Given the description of an element on the screen output the (x, y) to click on. 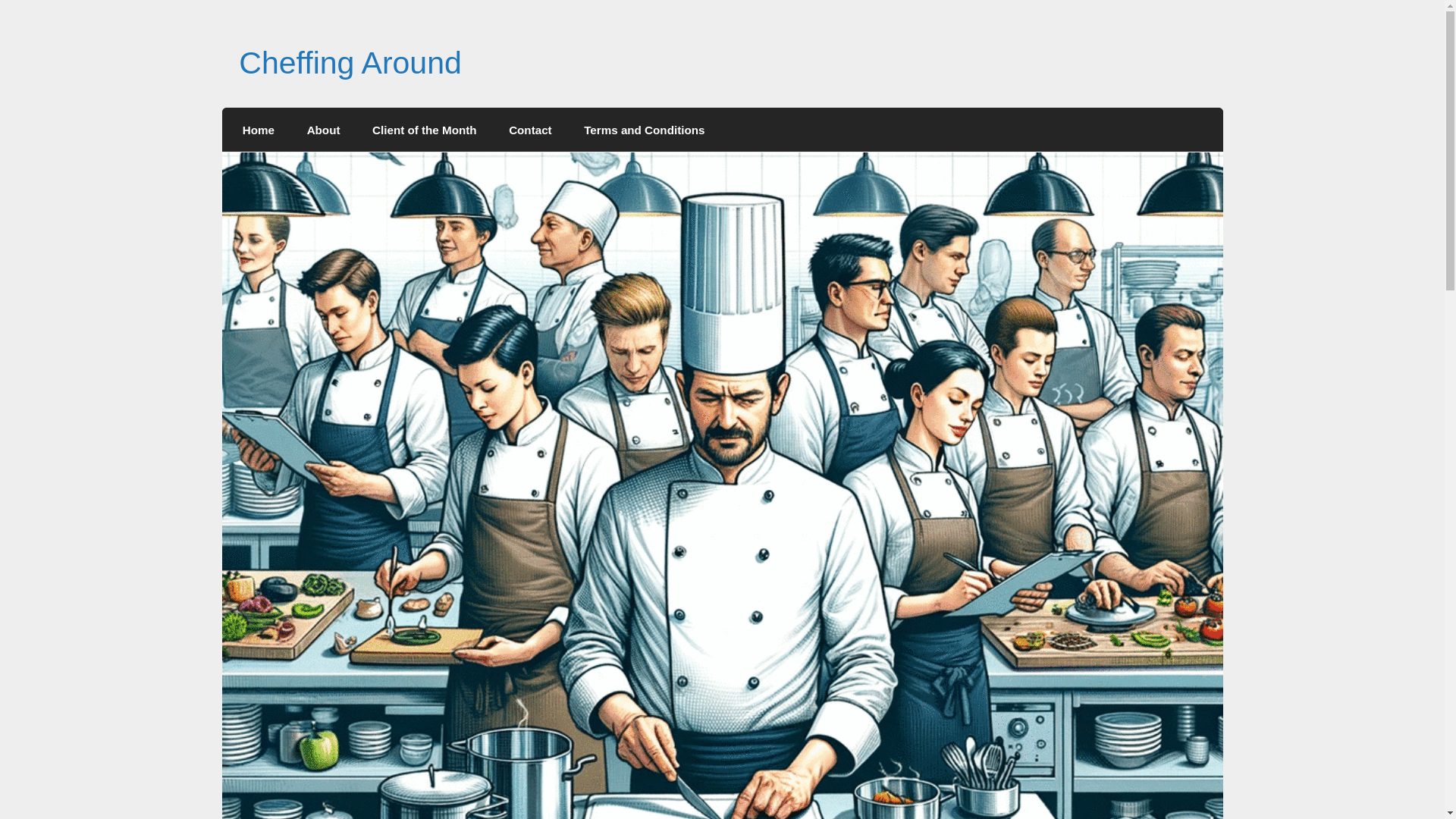
Home (259, 129)
About (322, 129)
Terms and Conditions (643, 129)
Client of the Month (424, 129)
Contact (530, 129)
Cheffing Around (349, 62)
